Given the description of an element on the screen output the (x, y) to click on. 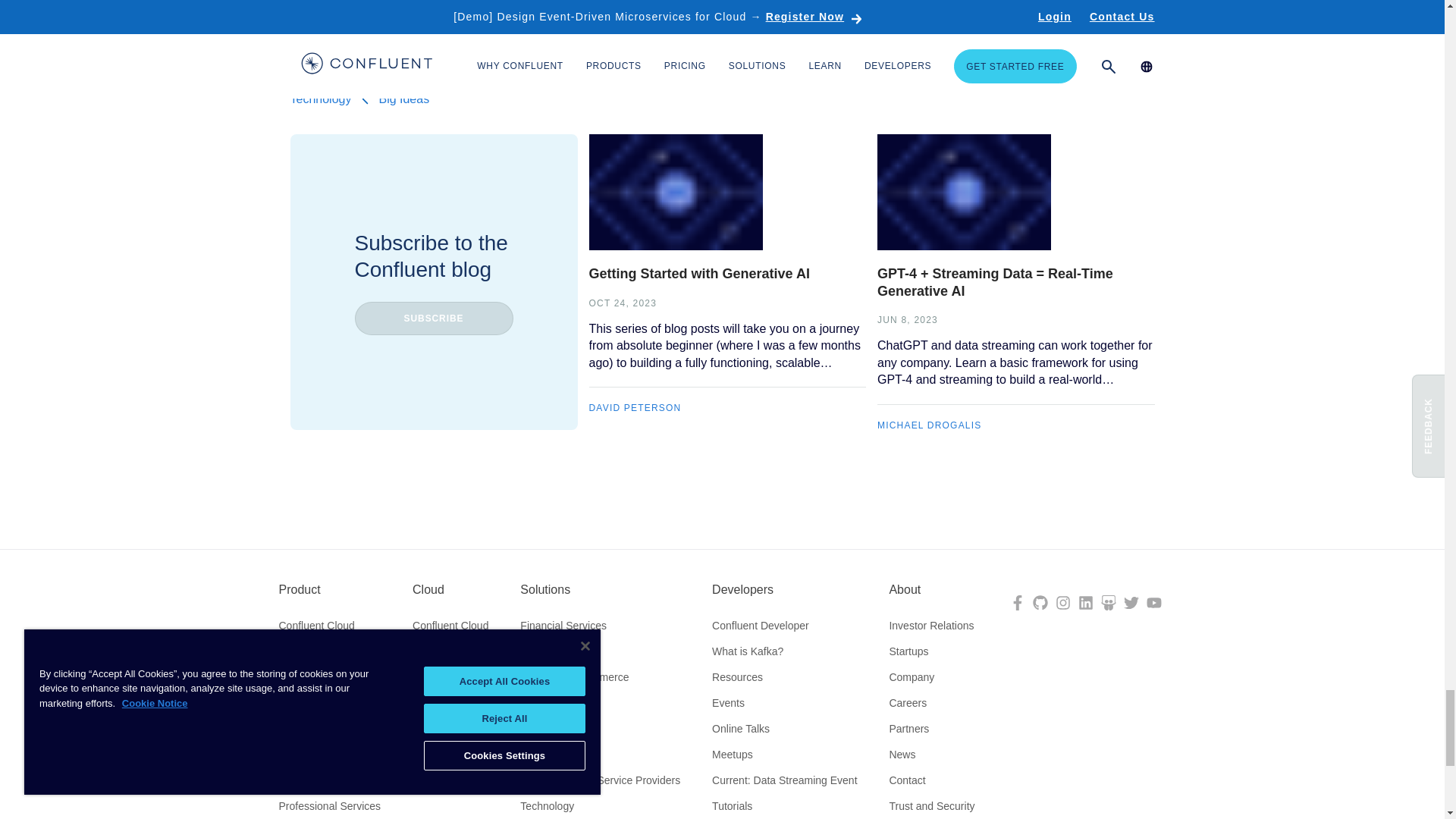
View all posts by David Peterson (634, 408)
View all posts by Michael Drogalis (929, 425)
